Given the description of an element on the screen output the (x, y) to click on. 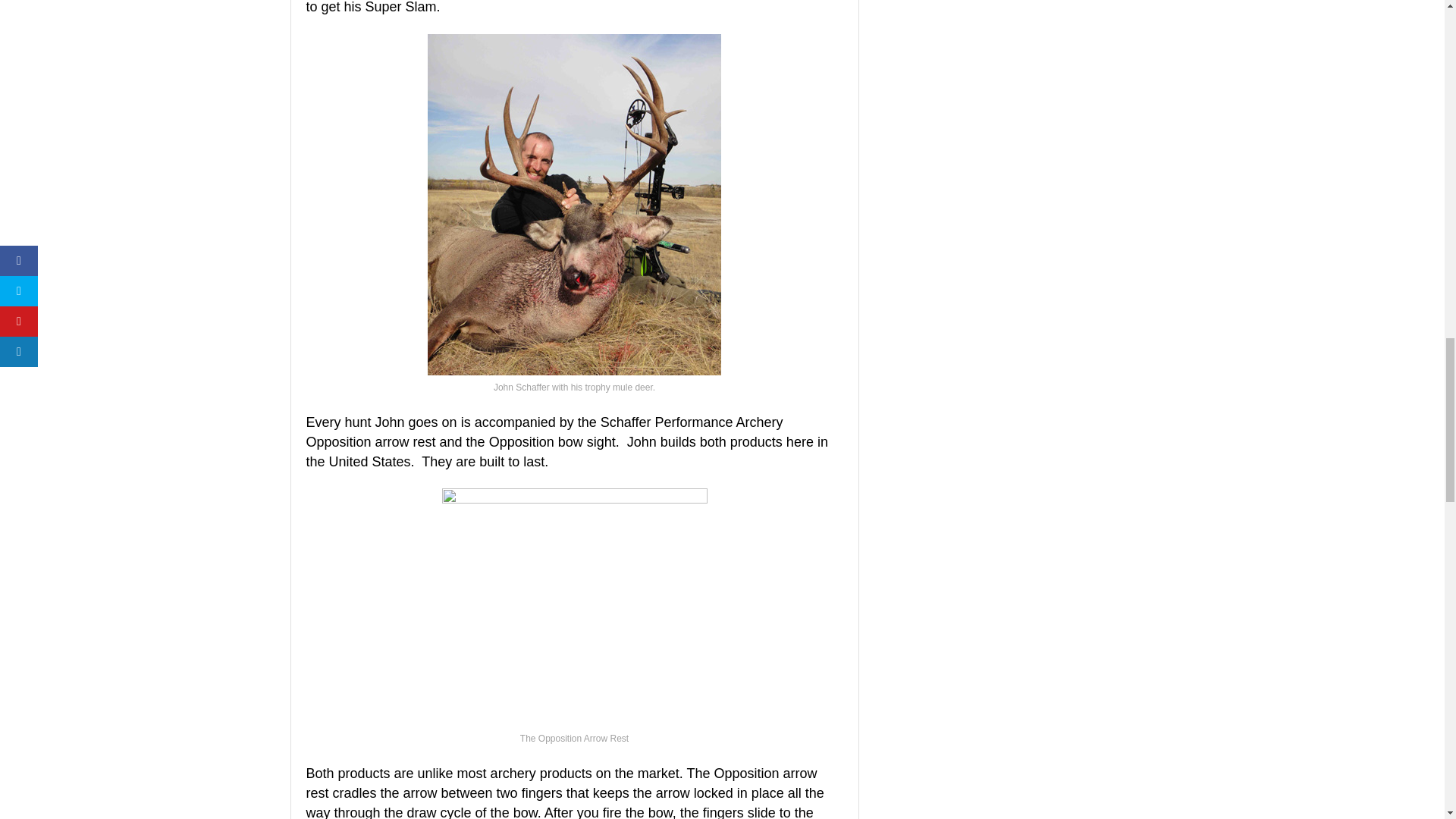
hero1 (573, 607)
SCHAFFER-MULE-DEER (574, 204)
